Given the description of an element on the screen output the (x, y) to click on. 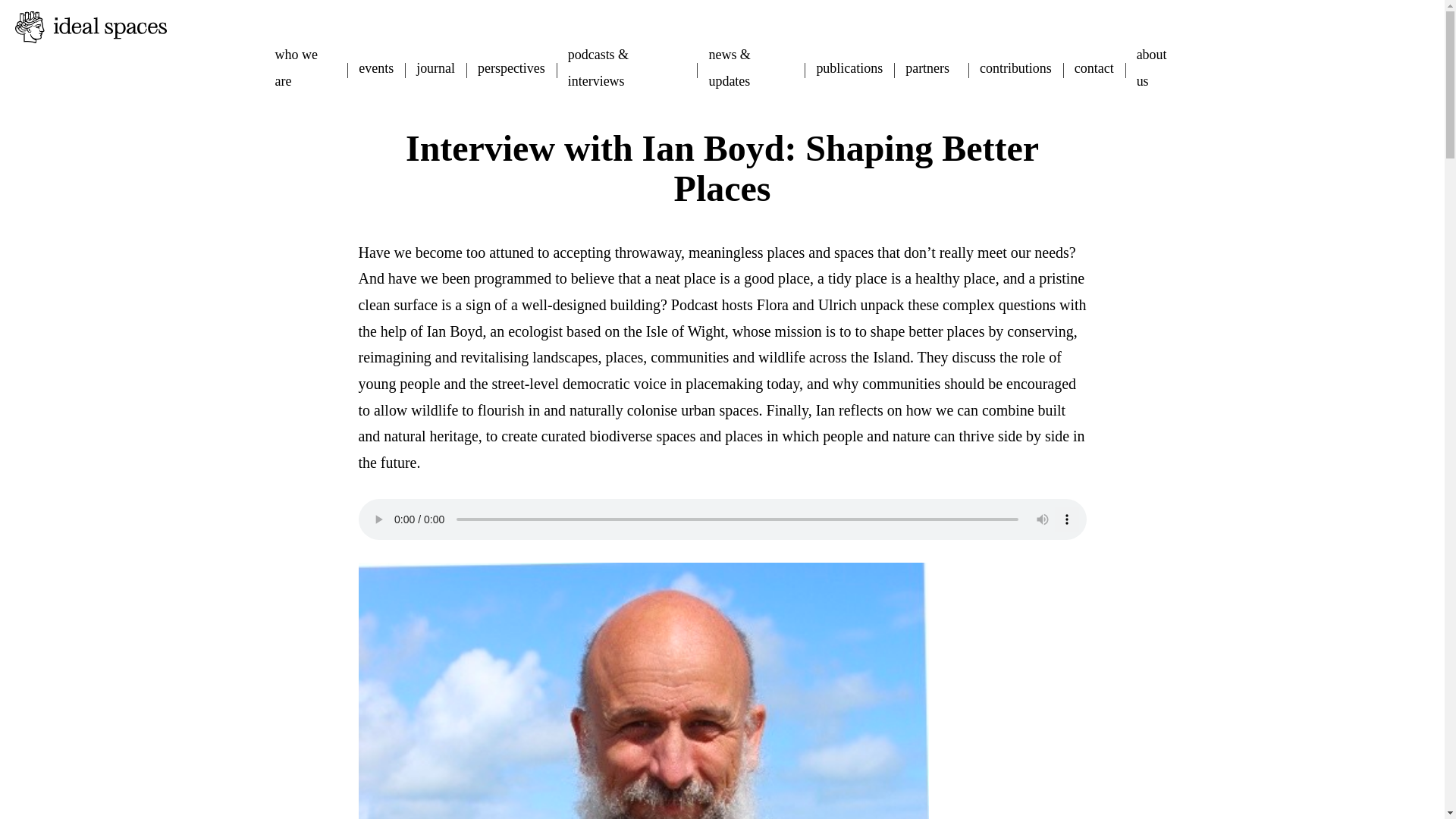
partners (927, 68)
contact (1093, 68)
who we are (305, 67)
perspectives (510, 68)
events (375, 68)
contributions (1015, 68)
journal (435, 68)
publications (848, 68)
